Given the description of an element on the screen output the (x, y) to click on. 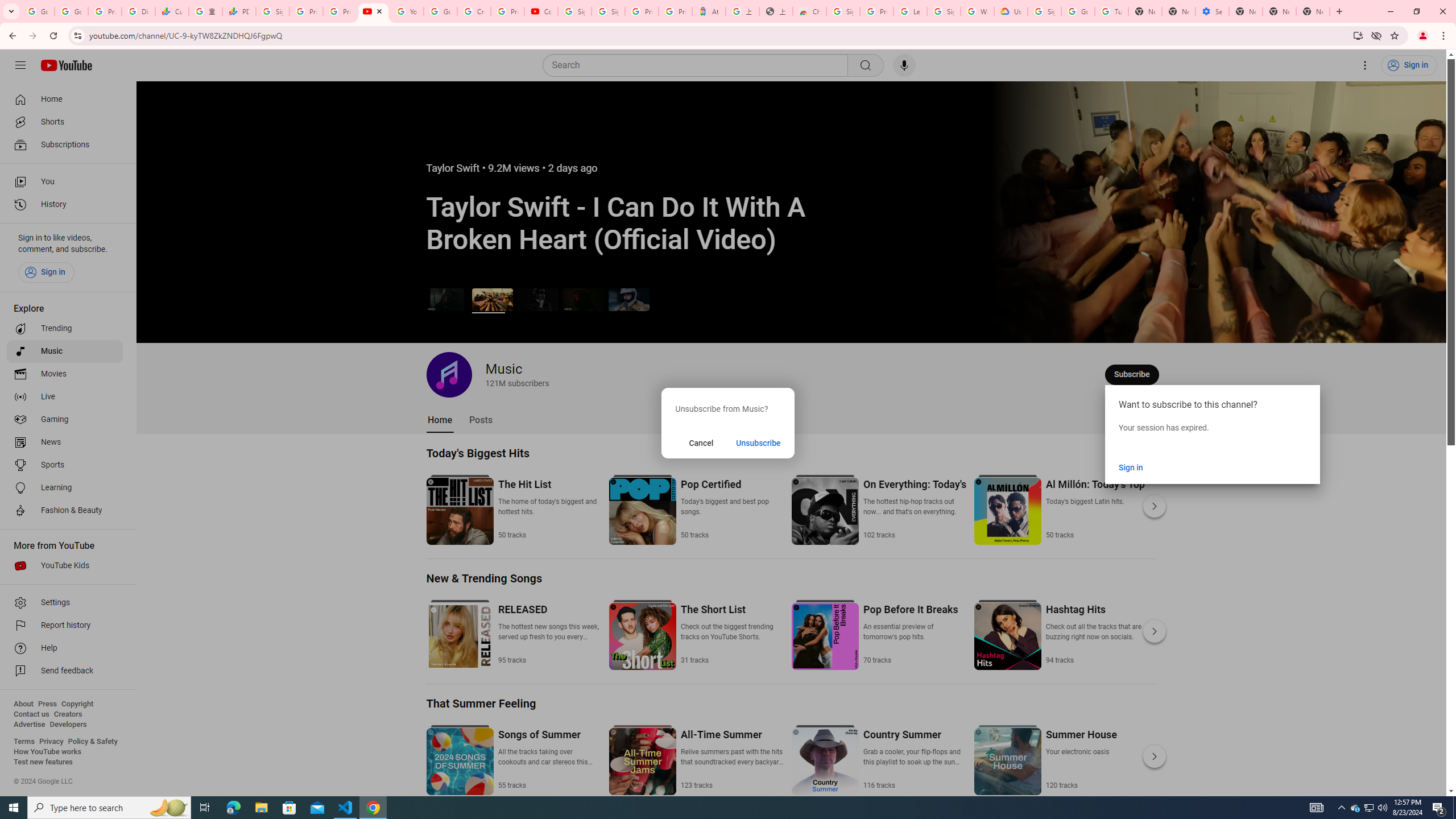
Music 121 million subscribers (487, 374)
YouTube (406, 11)
Unsubscribe (758, 442)
Privacy Checkup (339, 11)
Atour Hotel - Google hotels (708, 11)
Sports (64, 464)
